Given the description of an element on the screen output the (x, y) to click on. 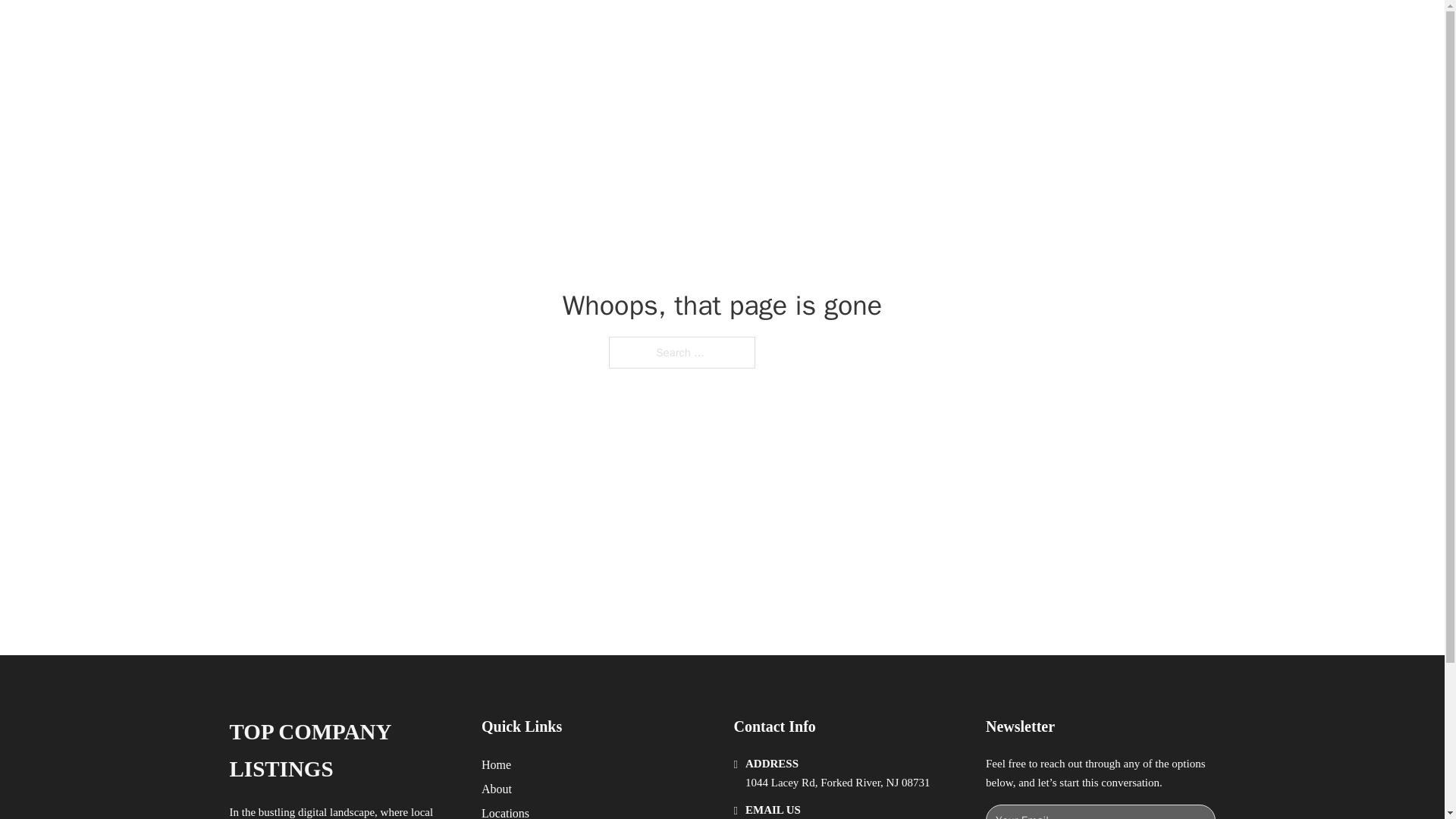
Home (496, 764)
LOCATIONS (990, 29)
About (496, 788)
Locations (505, 811)
HOME (919, 29)
TOP COMPANY LISTINGS (343, 750)
